Given the description of an element on the screen output the (x, y) to click on. 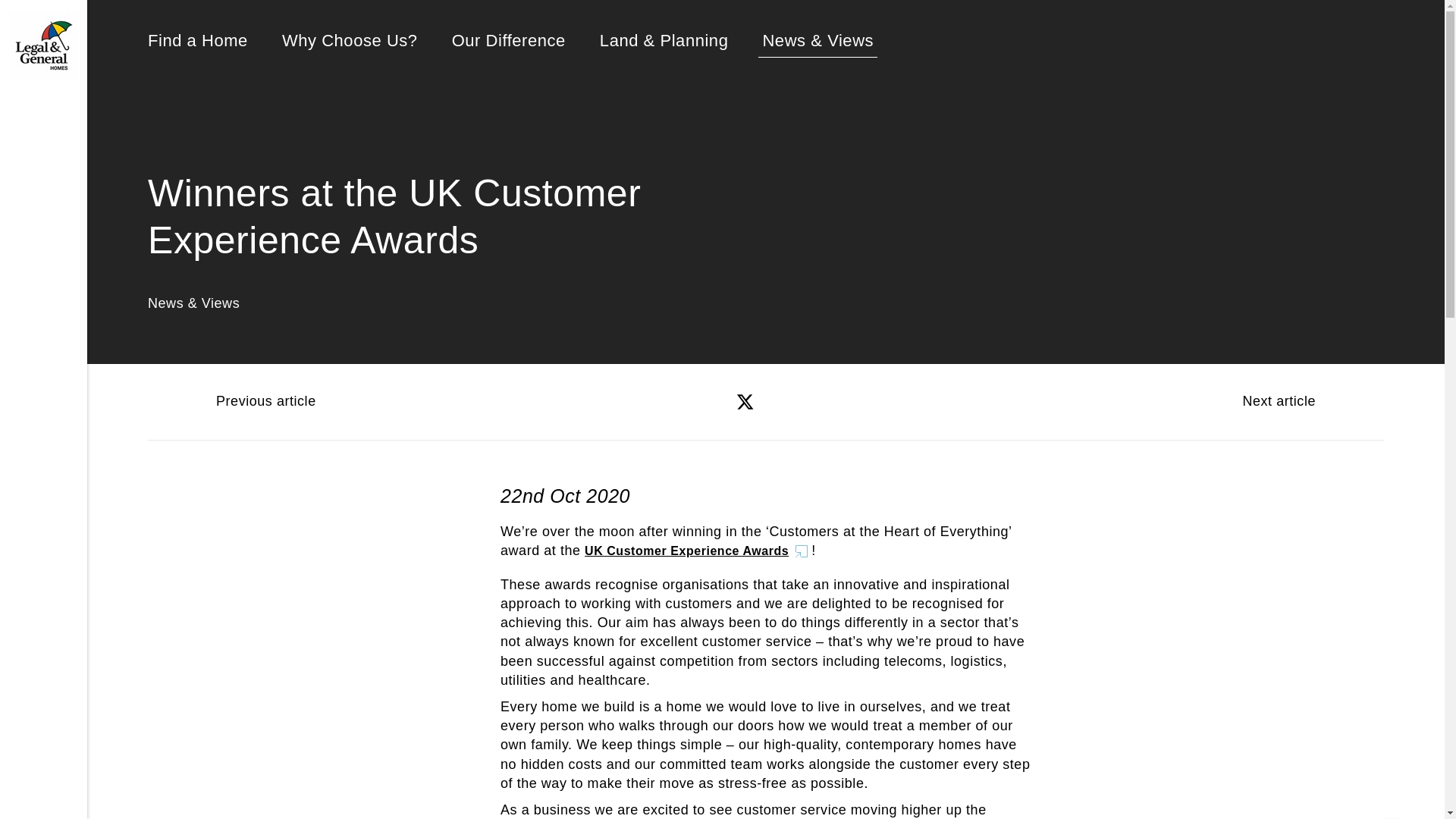
Why Choose Us? (349, 40)
UK Customer Experience Awards (697, 550)
Next article (1304, 402)
Our Difference (508, 40)
Previous article (239, 402)
Share to Pinterest (828, 401)
Share to Twitter X (744, 401)
Share to Facebook (702, 401)
Find a Home (197, 40)
Share to LinkedIn (786, 401)
